Given the description of an element on the screen output the (x, y) to click on. 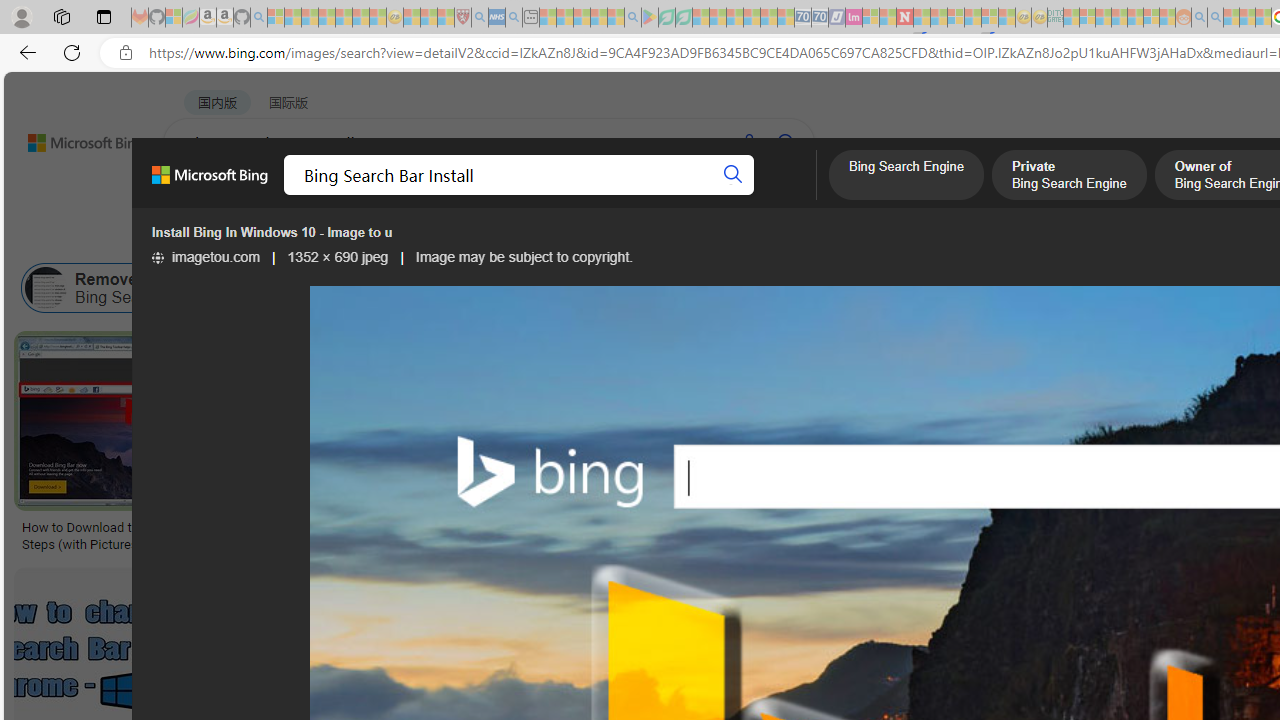
Install Bing (645, 287)
Bing Search Engine (906, 177)
Image result for Bing Search Bar Install (347, 611)
Class: b_pri_nav_svg (423, 196)
Back to Bing search (73, 138)
2:44 (1007, 585)
Bing Desktop Search Bar (472, 287)
